Given the description of an element on the screen output the (x, y) to click on. 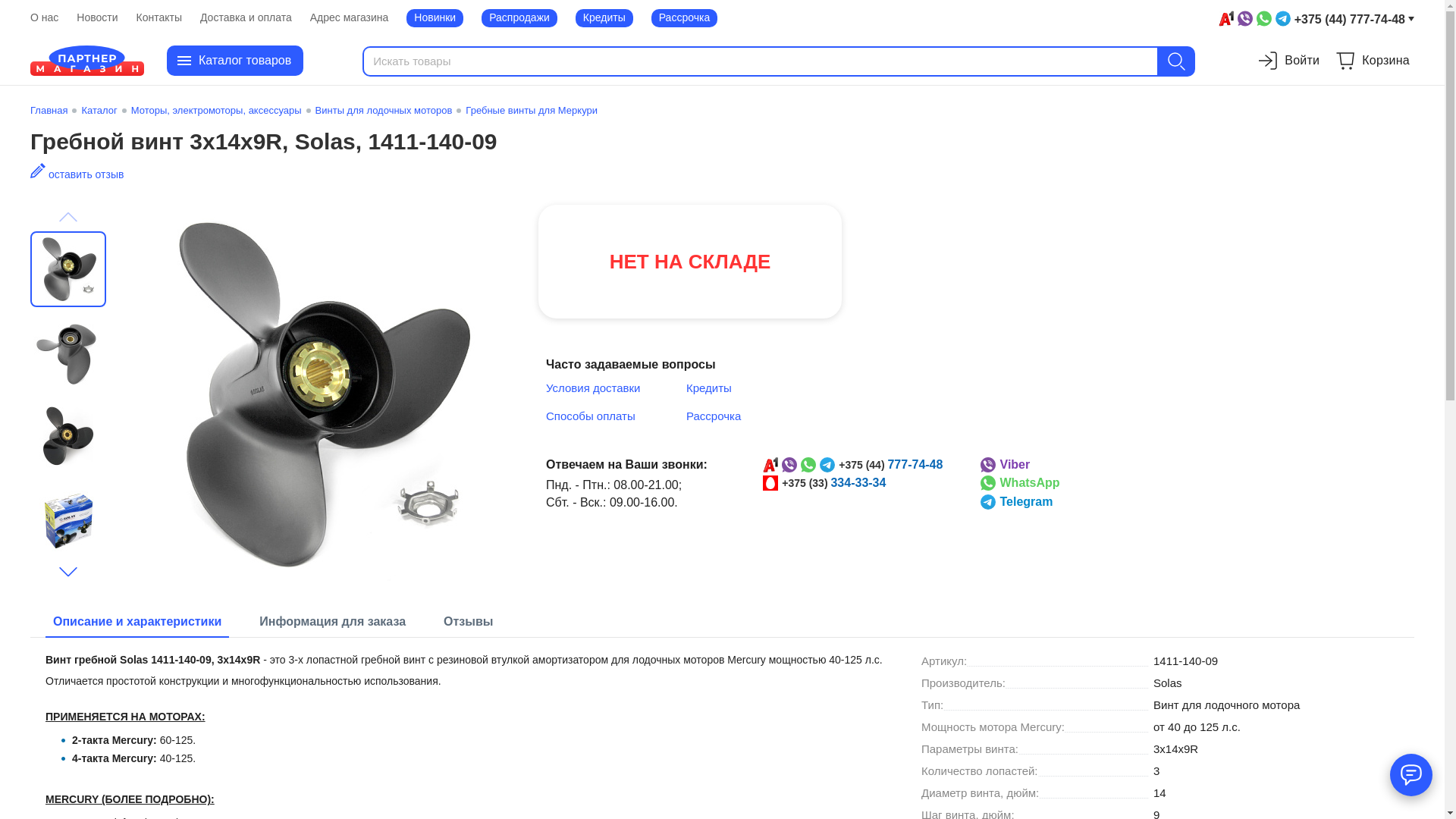
Viber Element type: text (1004, 464)
WhatsApp Element type: text (1019, 482)
Telegram Element type: text (1015, 501)
+375 (33) 334-33-34 Element type: text (833, 482)
+375 (44) 777-74-48 Element type: text (1316, 17)
+375 (44) 777-74-48 Element type: text (890, 464)
